Given the description of an element on the screen output the (x, y) to click on. 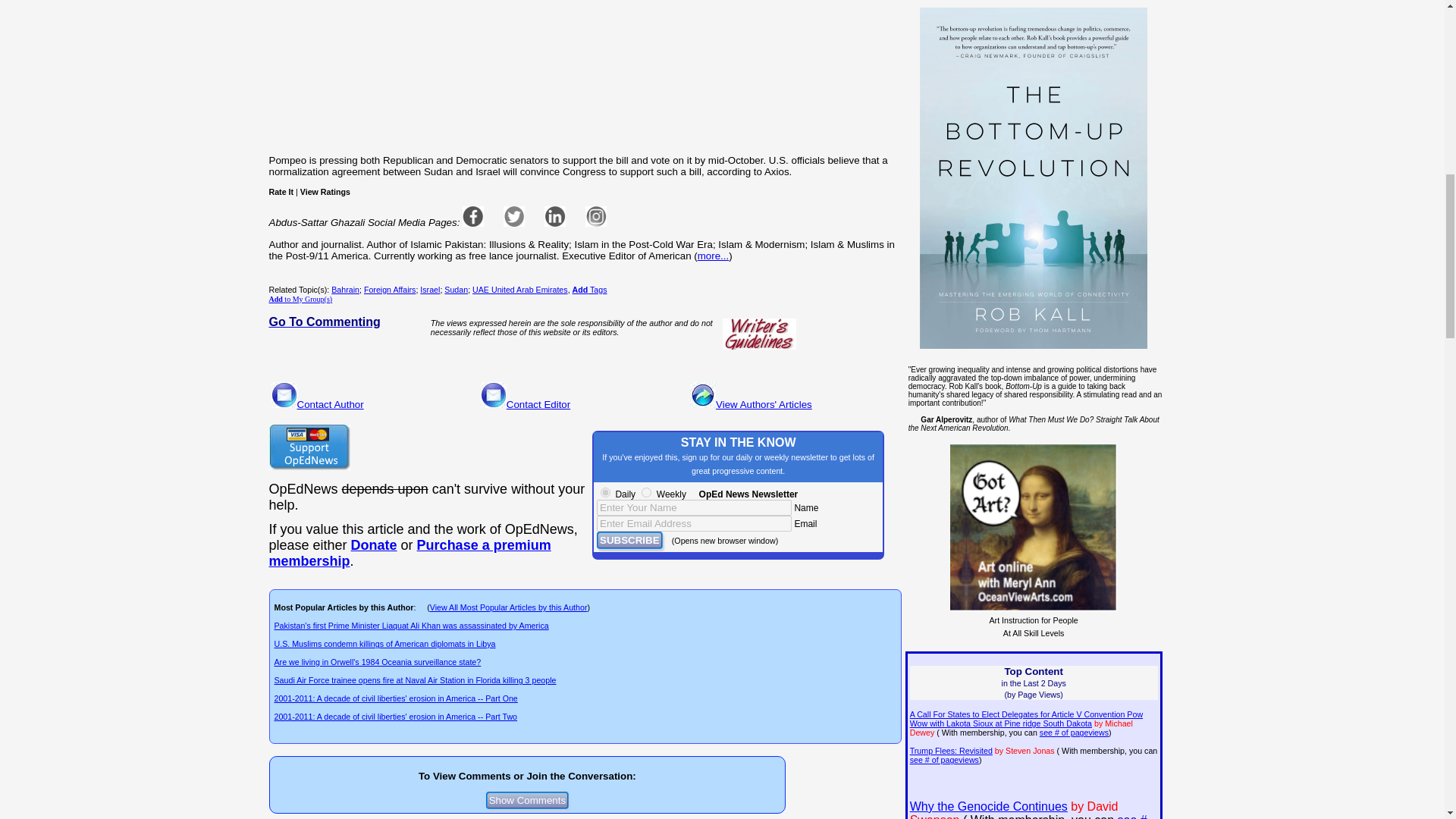
Support OpEdNews (308, 447)
Advertisement (586, 72)
Linkedin page url on login Profile not filled in (555, 216)
Weekly (646, 492)
Instagram page url on login Profile not filled in (596, 216)
UAE United Arab Emirates (519, 289)
View Ratings (324, 191)
Twitter page url on login Profile not filled in (513, 216)
Sudan (455, 289)
-- (408, 552)
